Given the description of an element on the screen output the (x, y) to click on. 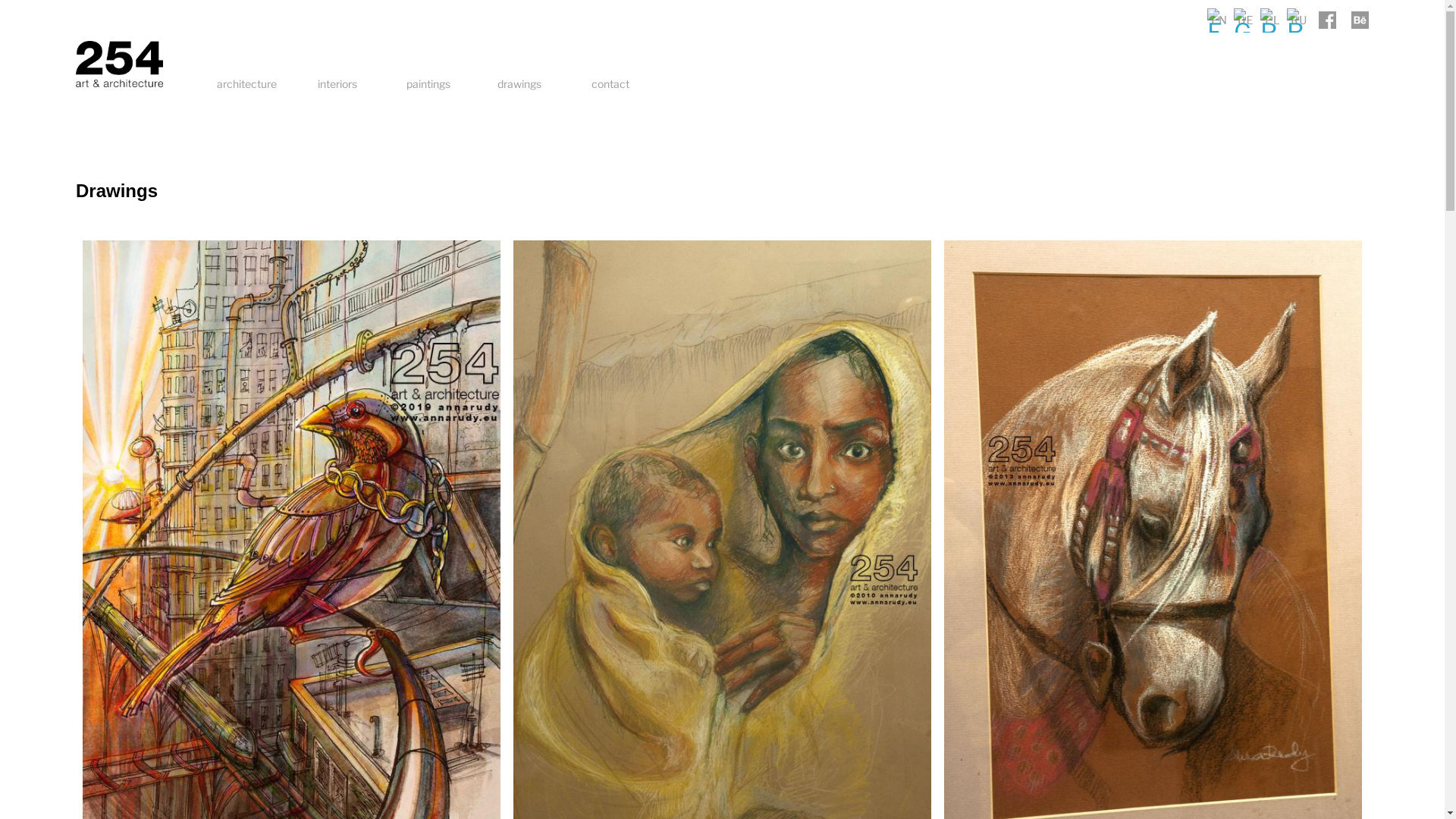
paintings Element type: text (427, 83)
Polish Element type: hover (1272, 19)
English Element type: hover (1219, 19)
interiors Element type: text (336, 83)
architecture Element type: text (245, 83)
Russian Element type: hover (1298, 19)
drawings Element type: text (518, 83)
contact Element type: text (609, 83)
German Element type: hover (1245, 19)
